Given the description of an element on the screen output the (x, y) to click on. 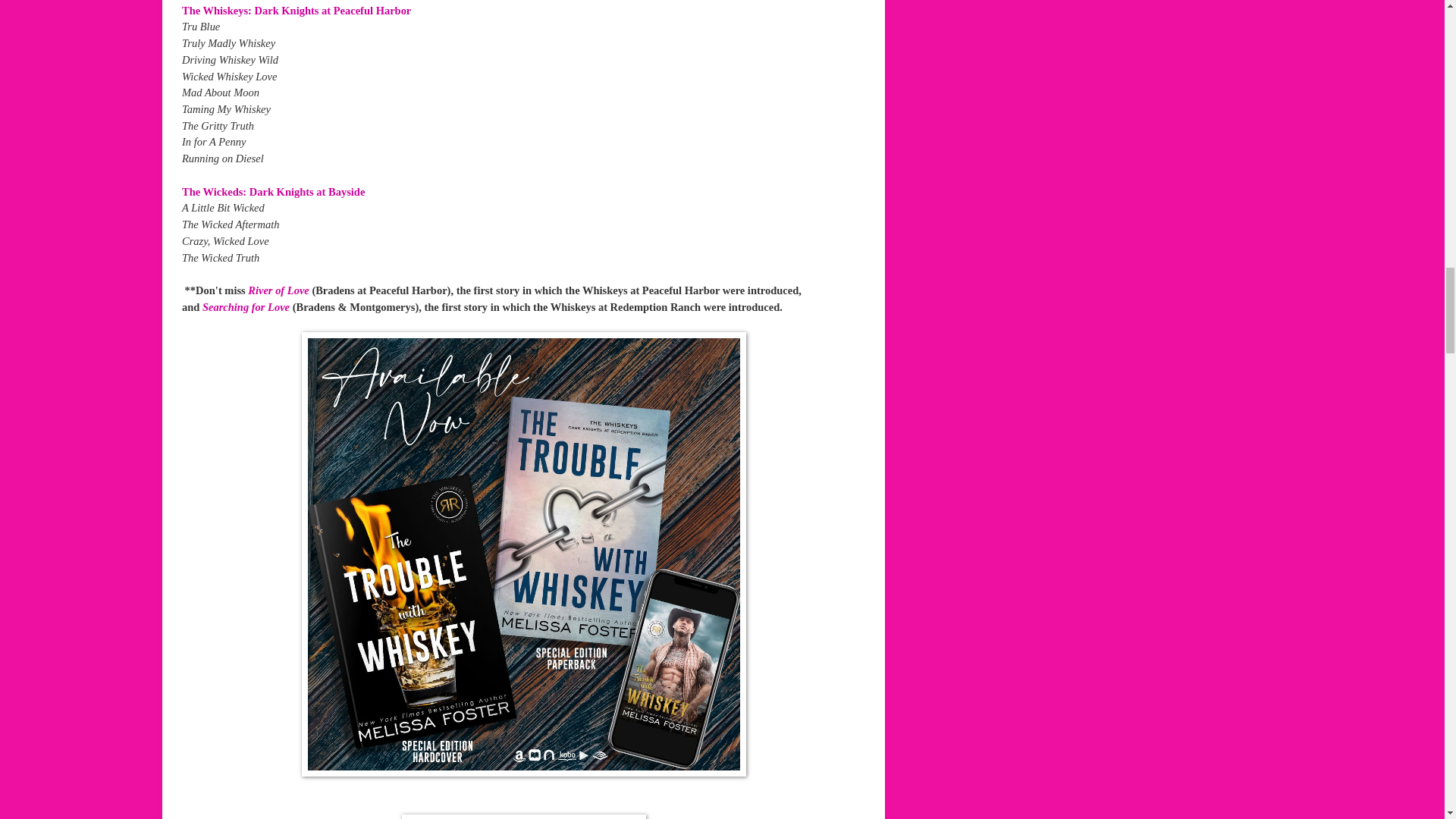
The Whiskeys: Dark Knights at Peaceful Harbor  (297, 10)
River of Love (277, 290)
The Wickeds: Dark Knights at Bayside  (275, 191)
Searching for Love (245, 306)
